Given the description of an element on the screen output the (x, y) to click on. 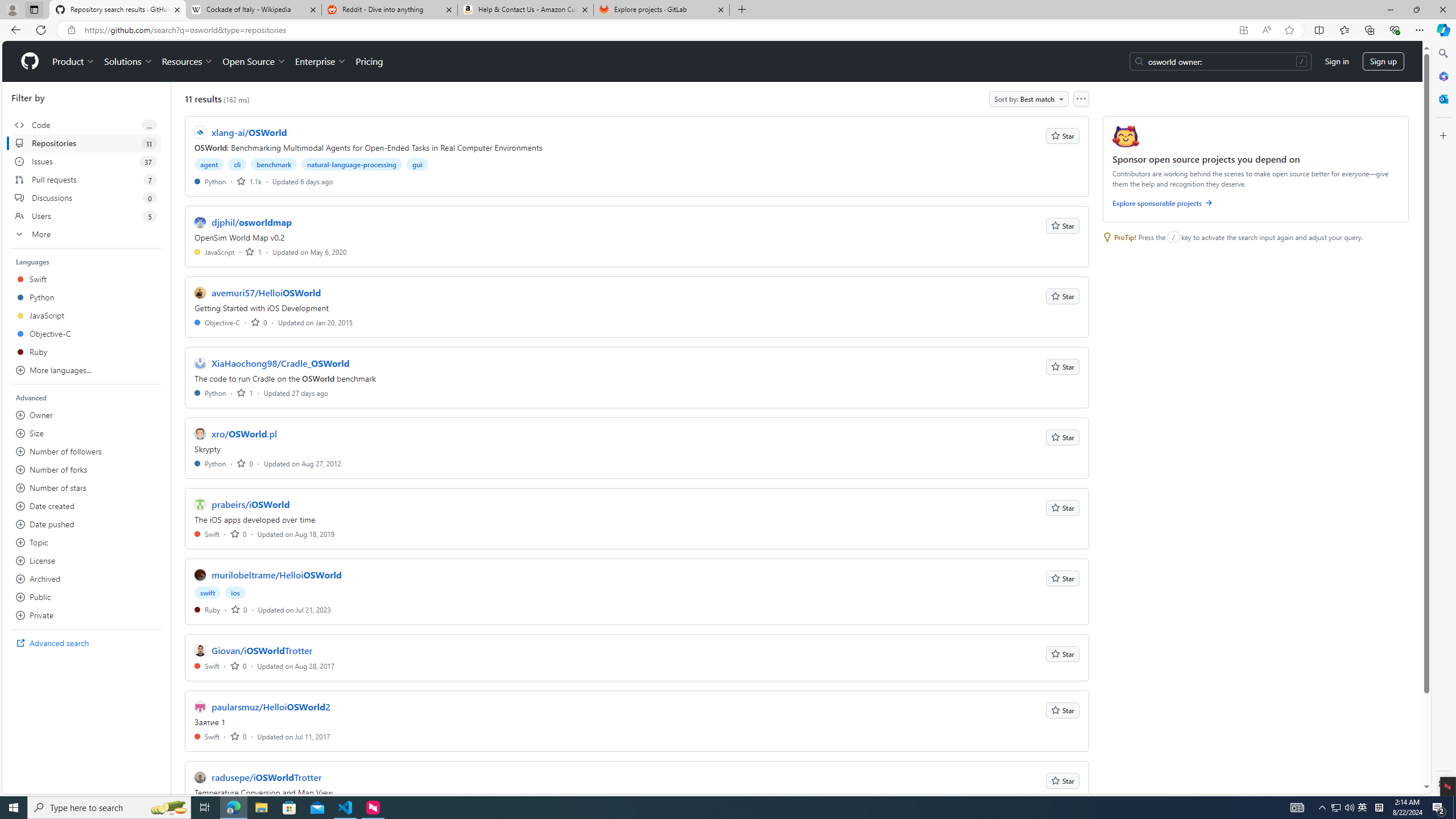
Updated on May 6, 2020 (309, 251)
Updated 6 days ago (302, 181)
Updated on Jul 11, 2017 (293, 736)
agent (209, 164)
Draggable pane splitter (169, 437)
Enterprise (319, 60)
Updated on Aug 18, 2019 (295, 533)
Product (74, 60)
